Given the description of an element on the screen output the (x, y) to click on. 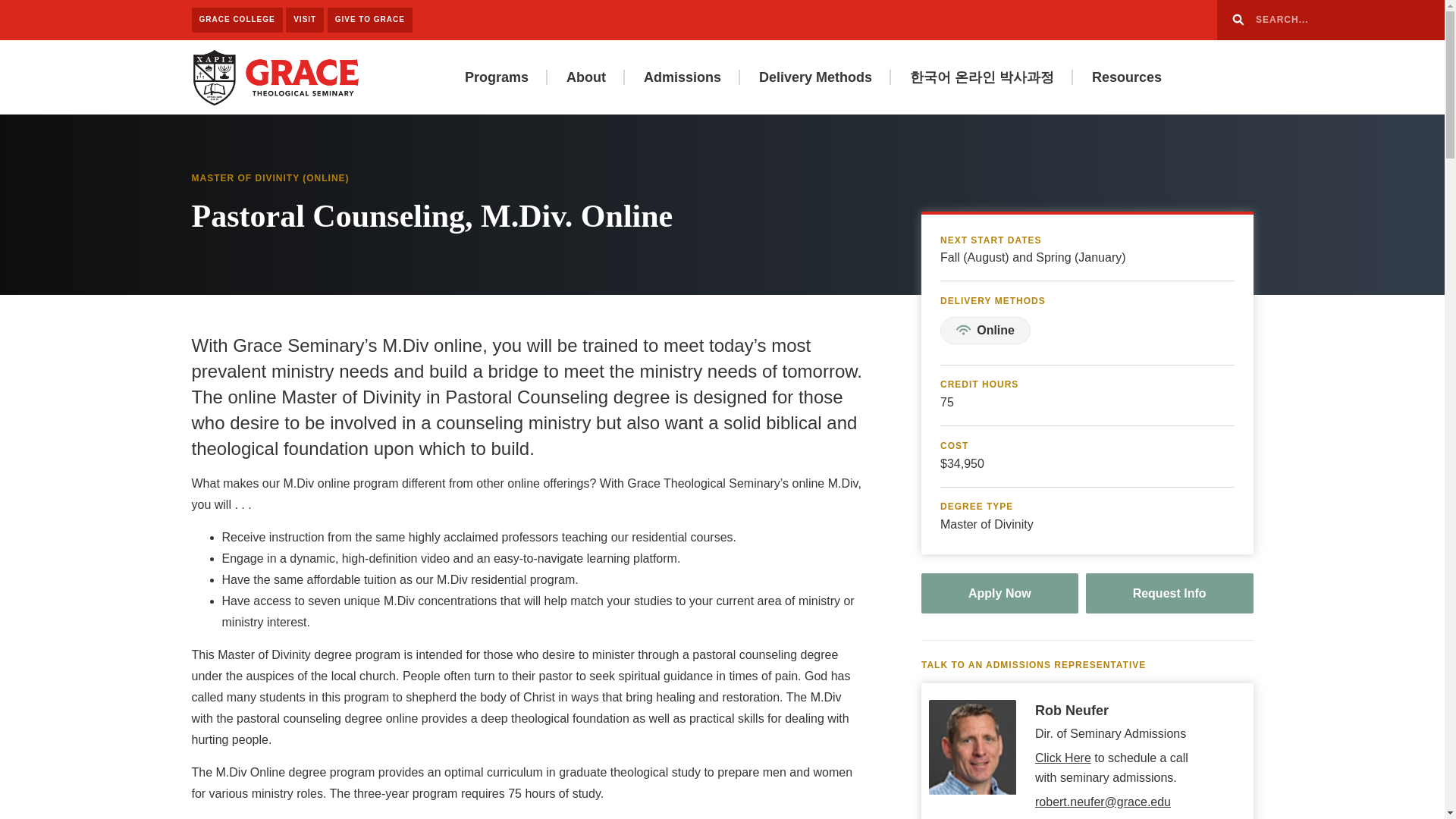
Grace Theological Seminary (274, 76)
GRACE COLLEGE (236, 19)
GIVE TO GRACE (369, 19)
Programs (496, 77)
VISIT (304, 19)
